Given the description of an element on the screen output the (x, y) to click on. 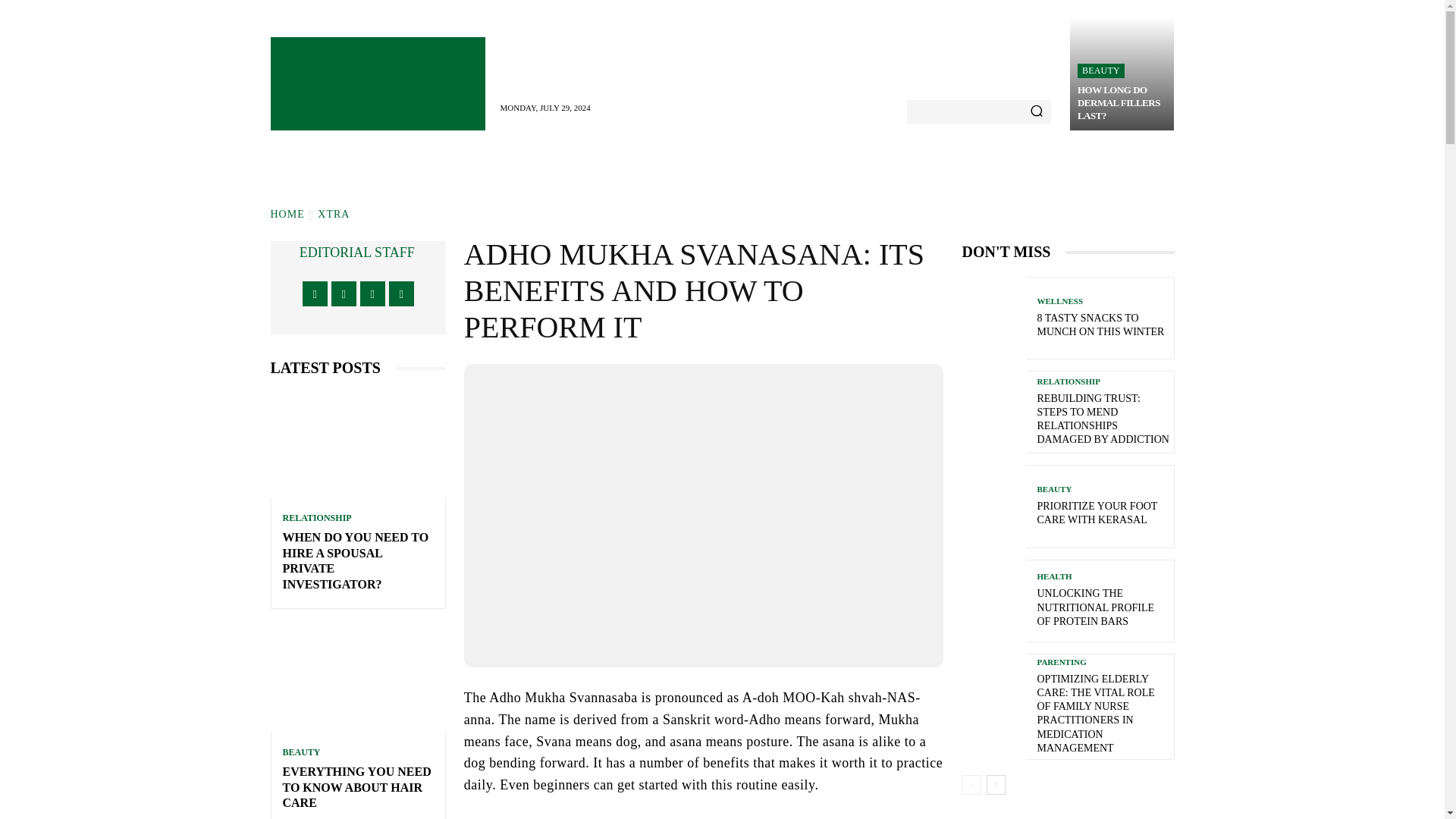
How Long Do Dermal Fillers Last? (1118, 102)
EDITORIAL STAFF (356, 251)
How Long Do Dermal Fillers Last? (1122, 74)
HOME (286, 214)
YeyeLife (376, 83)
RELATIONSHIP (316, 517)
HOW LONG DO DERMAL FILLERS LAST? (1118, 102)
XTRA (333, 214)
BEAUTY (1100, 70)
WHEN DO YOU NEED TO HIRE A SPOUSAL PRIVATE INVESTIGATOR? (355, 560)
Facebook (314, 292)
View all posts in Xtra (333, 214)
